Given the description of an element on the screen output the (x, y) to click on. 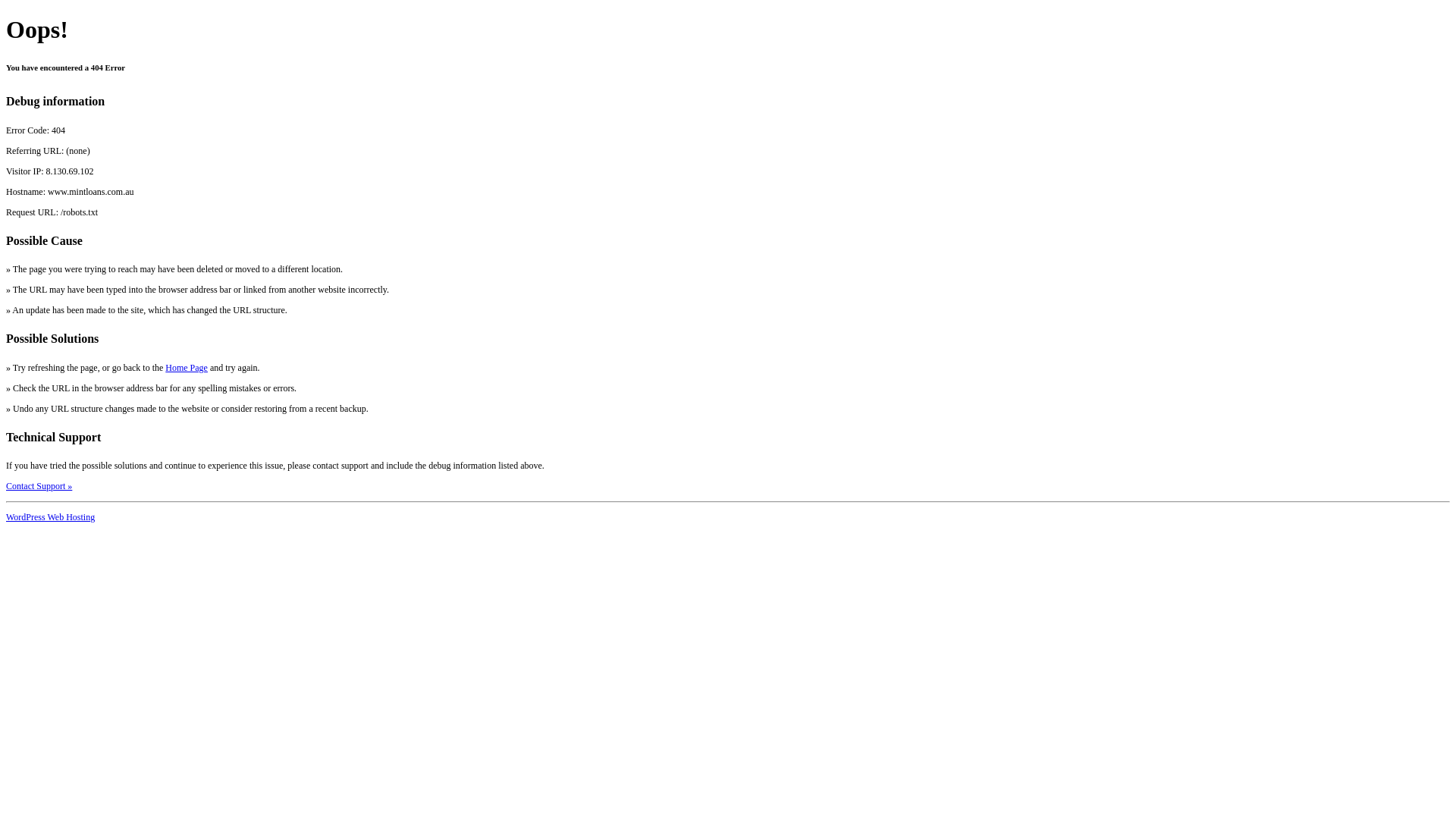
Home Page Element type: text (186, 367)
WordPress Web Hosting Element type: text (50, 516)
